Given the description of an element on the screen output the (x, y) to click on. 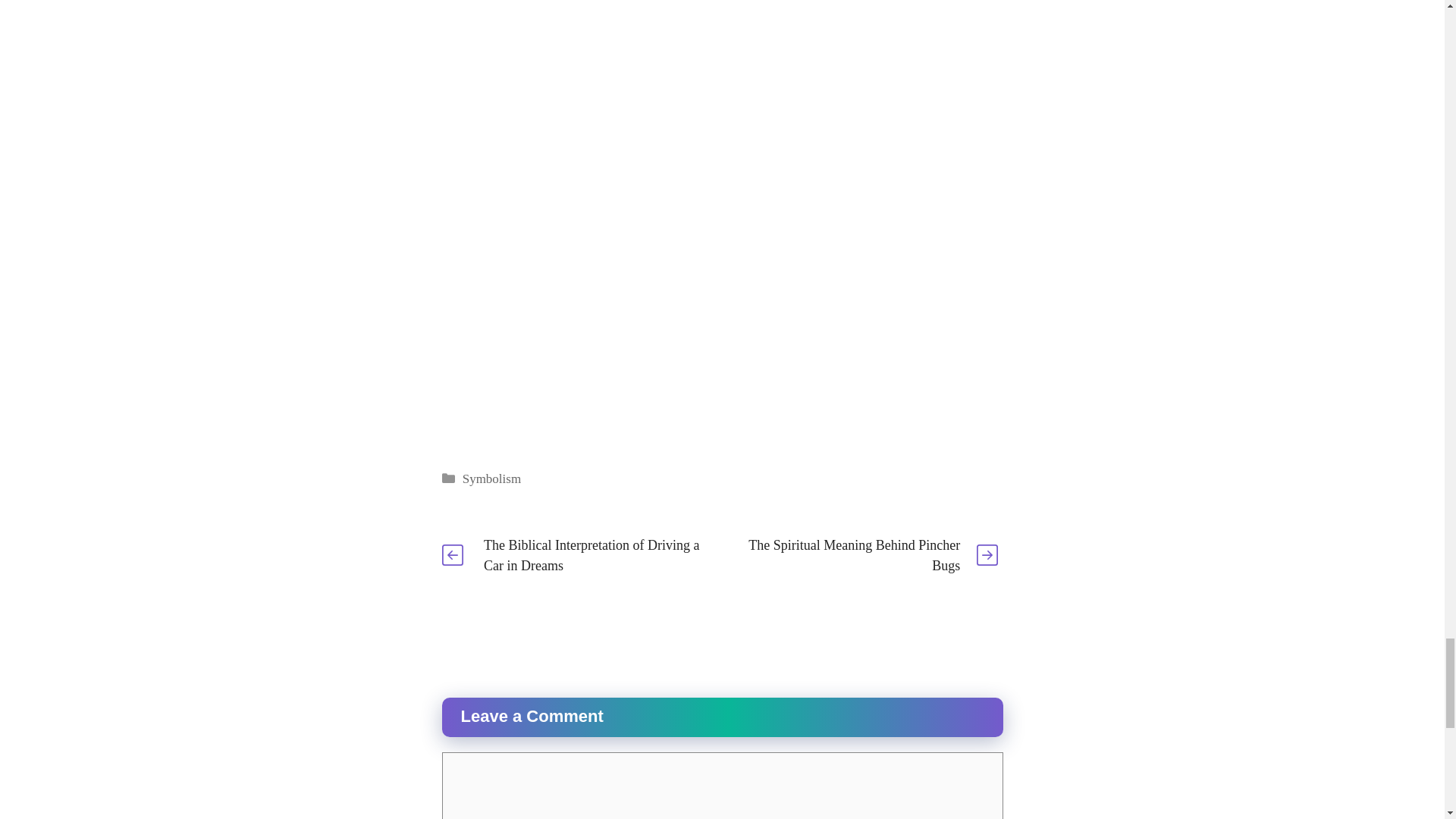
Symbolism (492, 478)
The Spiritual Meaning Behind Pincher Bugs (853, 555)
A Lesson From Four Lepers (722, 101)
The Biblical Interpretation of Driving a Car in Dreams (590, 555)
